Given the description of an element on the screen output the (x, y) to click on. 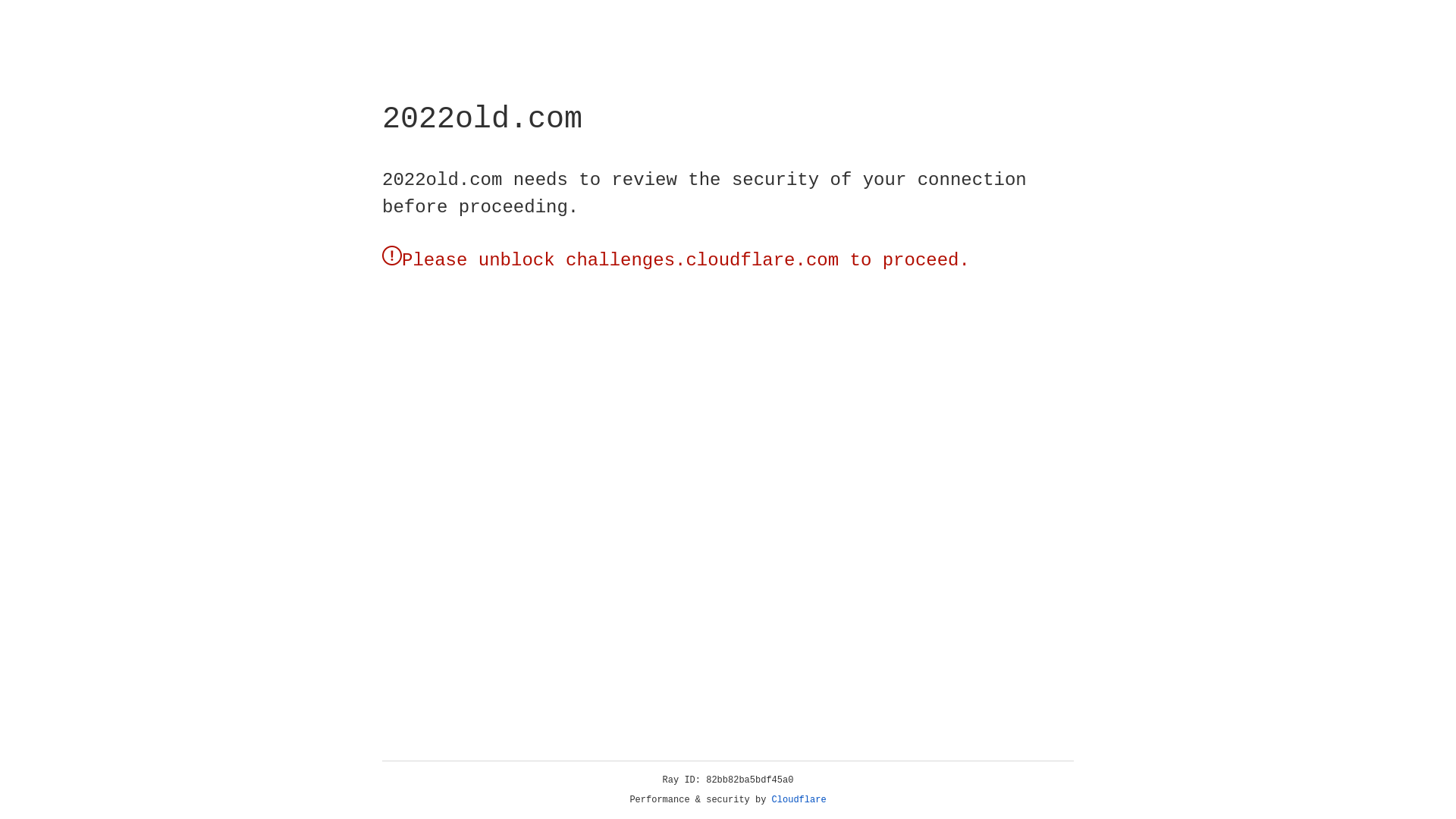
Cloudflare Element type: text (798, 799)
